Given the description of an element on the screen output the (x, y) to click on. 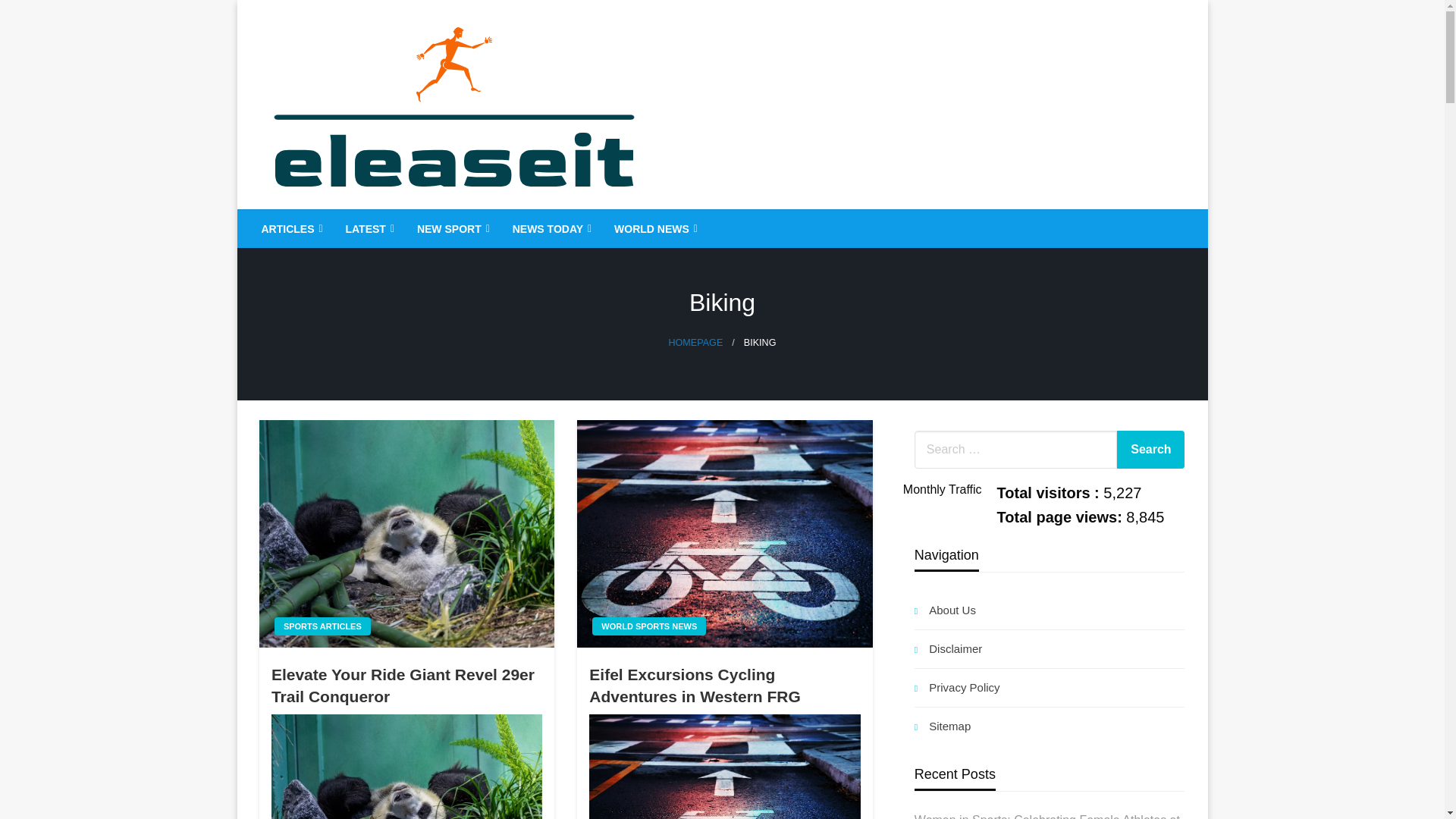
Homepage (695, 342)
NEW SPORT (451, 228)
Eifel Excursions Cycling Adventures in Western FRG (724, 766)
Search (1150, 449)
Eifel Excursions Cycling Adventures in Western FRG (724, 533)
SPORTS ARTICLES (323, 626)
ELEASEIT (336, 221)
Elevate Your Ride Giant Revel 29er Trail Conqueror (405, 685)
LATEST (367, 228)
